Given the description of an element on the screen output the (x, y) to click on. 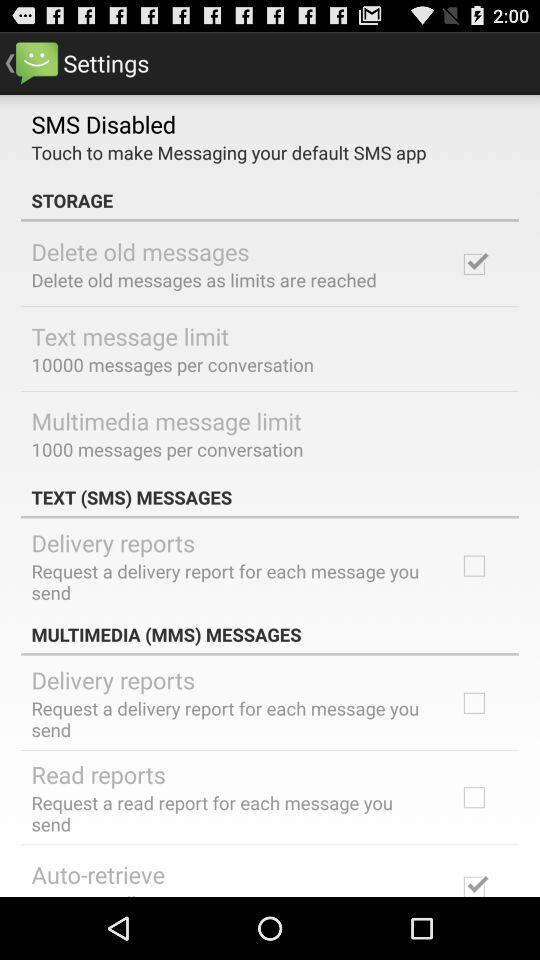
select read reports item (98, 774)
